Given the description of an element on the screen output the (x, y) to click on. 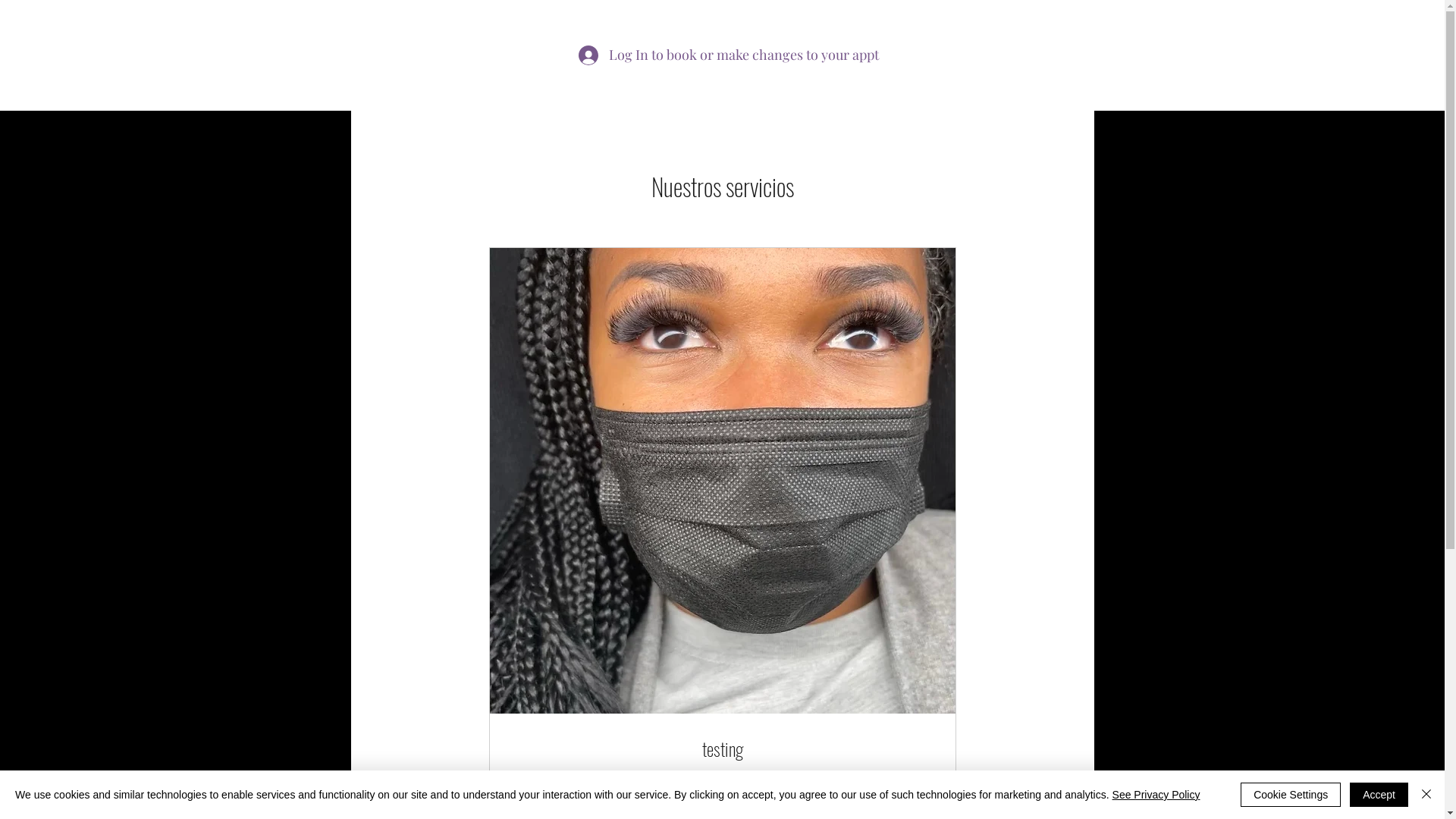
testing Element type: text (721, 749)
Log In to book or make changes to your appt Element type: text (654, 55)
Cookie Settings Element type: text (1290, 794)
See Privacy Policy Element type: text (1156, 794)
Accept Element type: text (1378, 794)
